Given the description of an element on the screen output the (x, y) to click on. 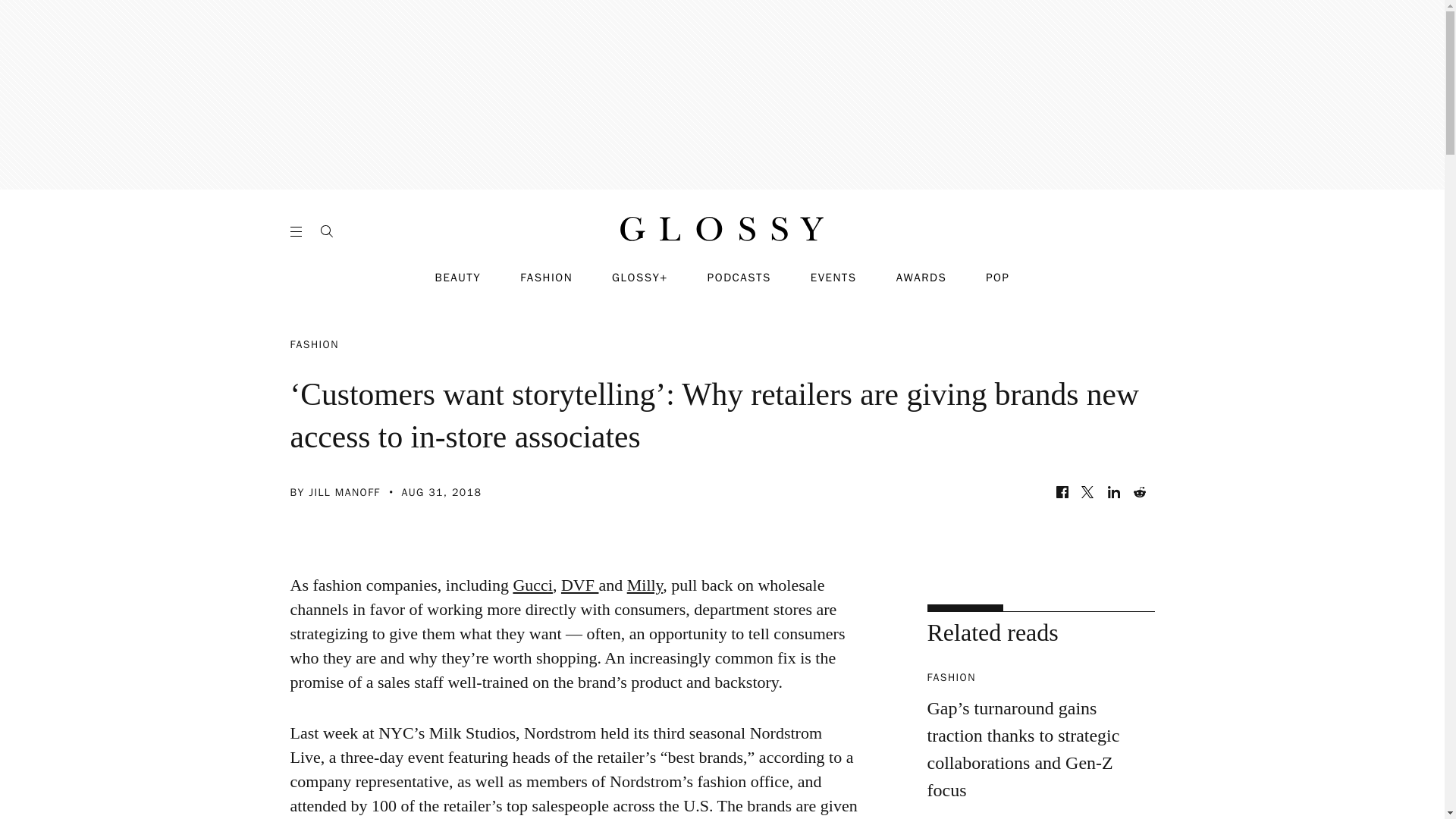
PODCASTS (739, 277)
EVENTS (833, 277)
AWARDS (921, 277)
POP (997, 277)
FASHION (545, 277)
BEAUTY (458, 277)
